Given the description of an element on the screen output the (x, y) to click on. 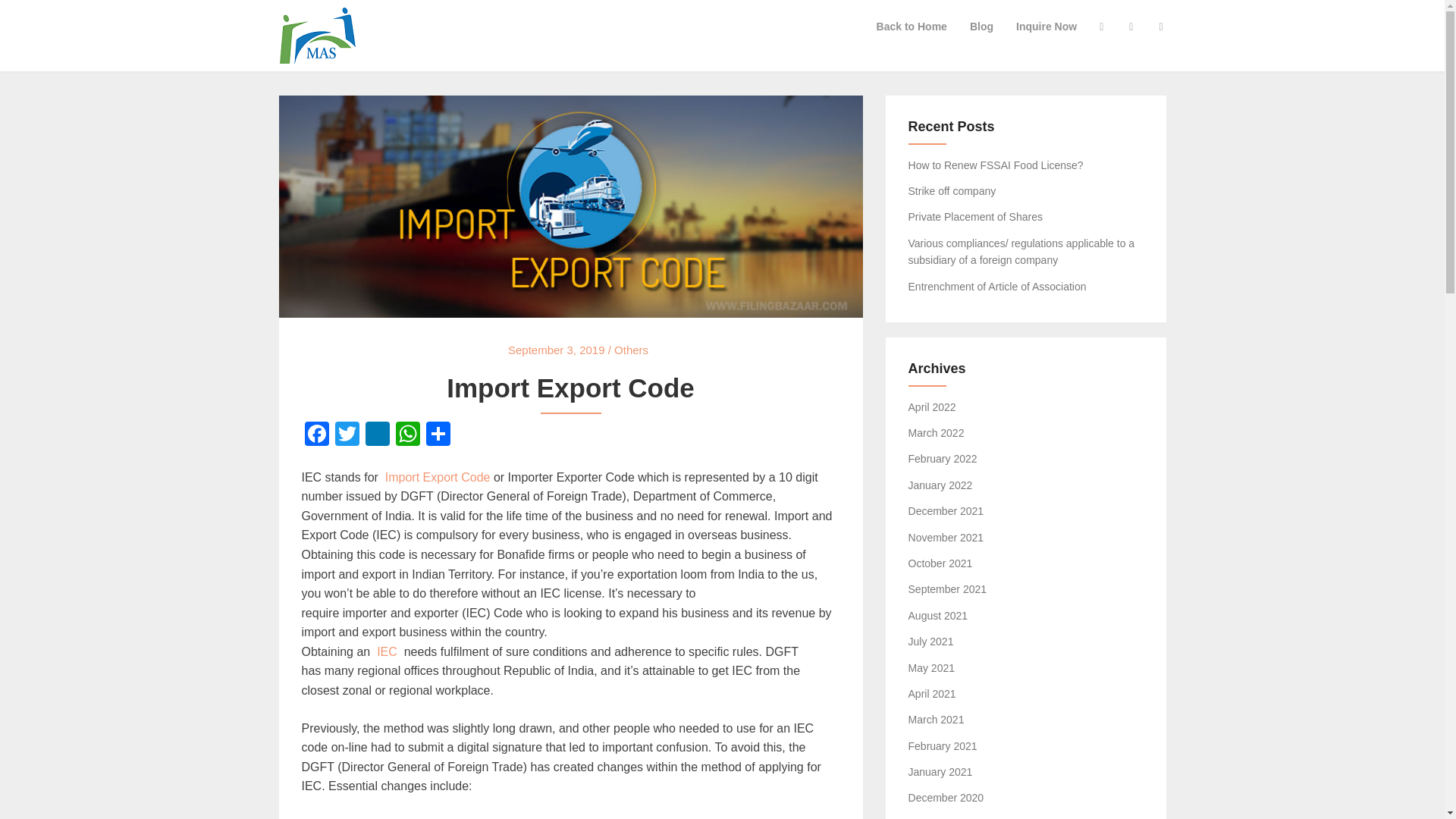
February 2022 (942, 458)
Others (630, 349)
Strike off company (951, 191)
November 2021 (946, 537)
LinkedIn (377, 435)
July 2021 (930, 641)
April 2022 (932, 407)
August 2021 (938, 615)
Share (437, 435)
WhatsApp (408, 435)
Import Export Code (435, 477)
IEC (387, 651)
WhatsApp (408, 435)
April 2021 (932, 693)
September 3, 2019 (556, 349)
